Given the description of an element on the screen output the (x, y) to click on. 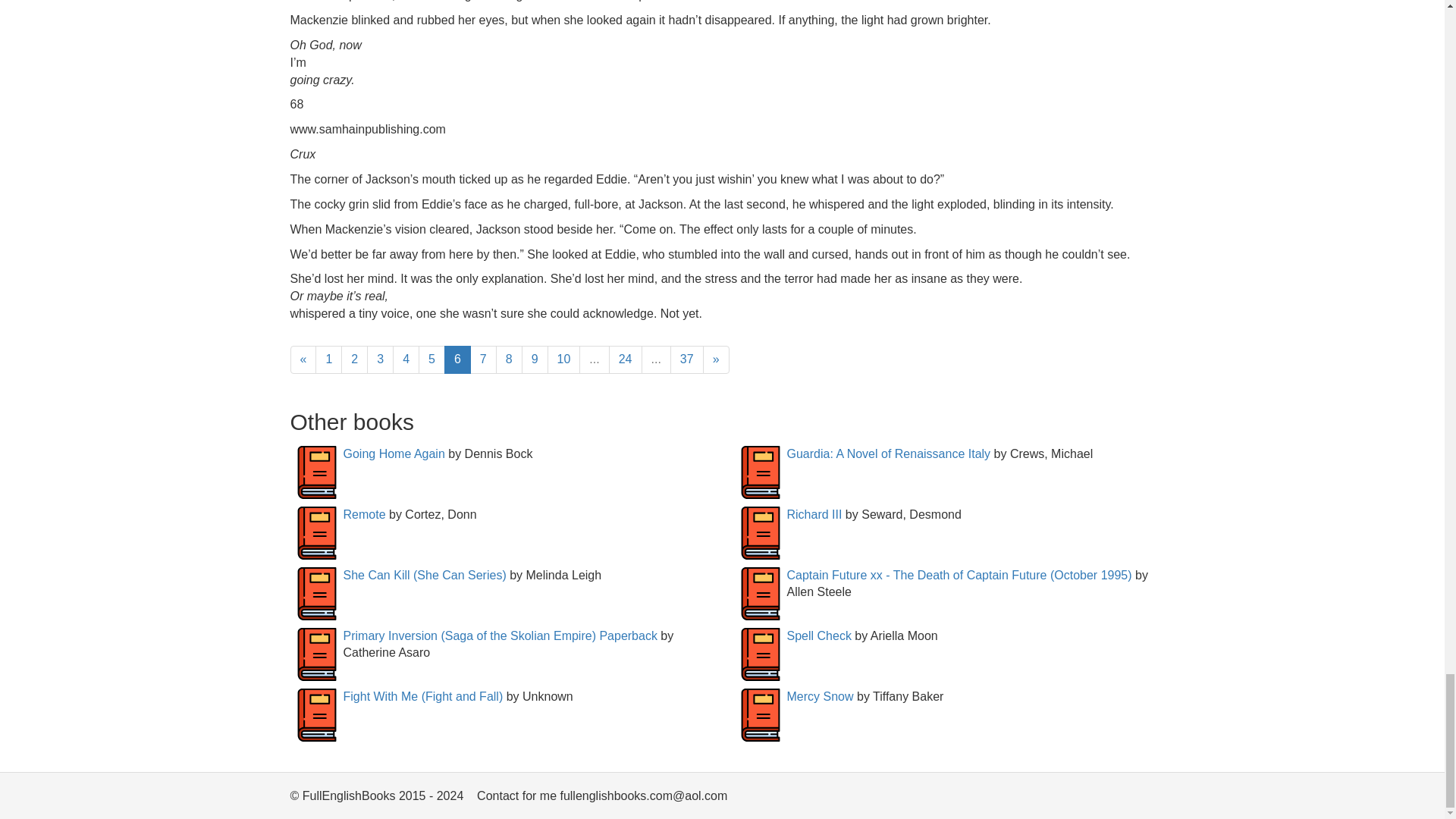
Going Home Again (393, 453)
10 (563, 359)
3 (379, 359)
1 (328, 359)
7 (483, 359)
Remote (363, 513)
LiveInternet (1142, 799)
37 (686, 359)
Guardia: A Novel of Renaissance Italy (889, 453)
5 (432, 359)
4 (406, 359)
8 (509, 359)
6 (457, 359)
2 (354, 359)
24 (625, 359)
